Given the description of an element on the screen output the (x, y) to click on. 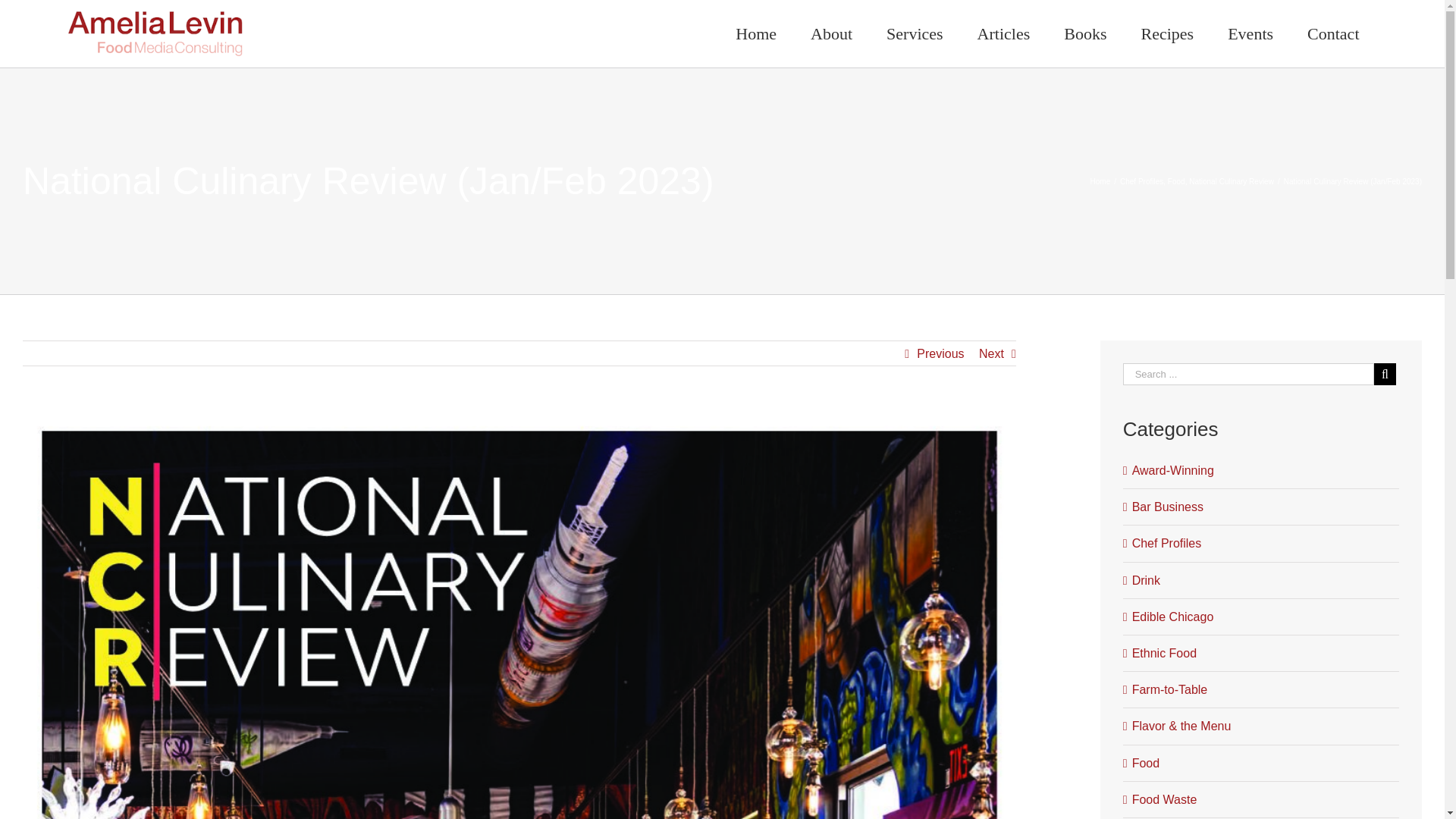
Services (914, 33)
National Culinary Review (1231, 181)
Home (756, 33)
Books (1085, 33)
Recipes (1167, 33)
Events (1250, 33)
Contact (1332, 33)
Next (991, 353)
About (831, 33)
Articles (1002, 33)
Food (1176, 181)
Previous (940, 353)
Chef Profiles (1141, 181)
Home (1100, 181)
